Given the description of an element on the screen output the (x, y) to click on. 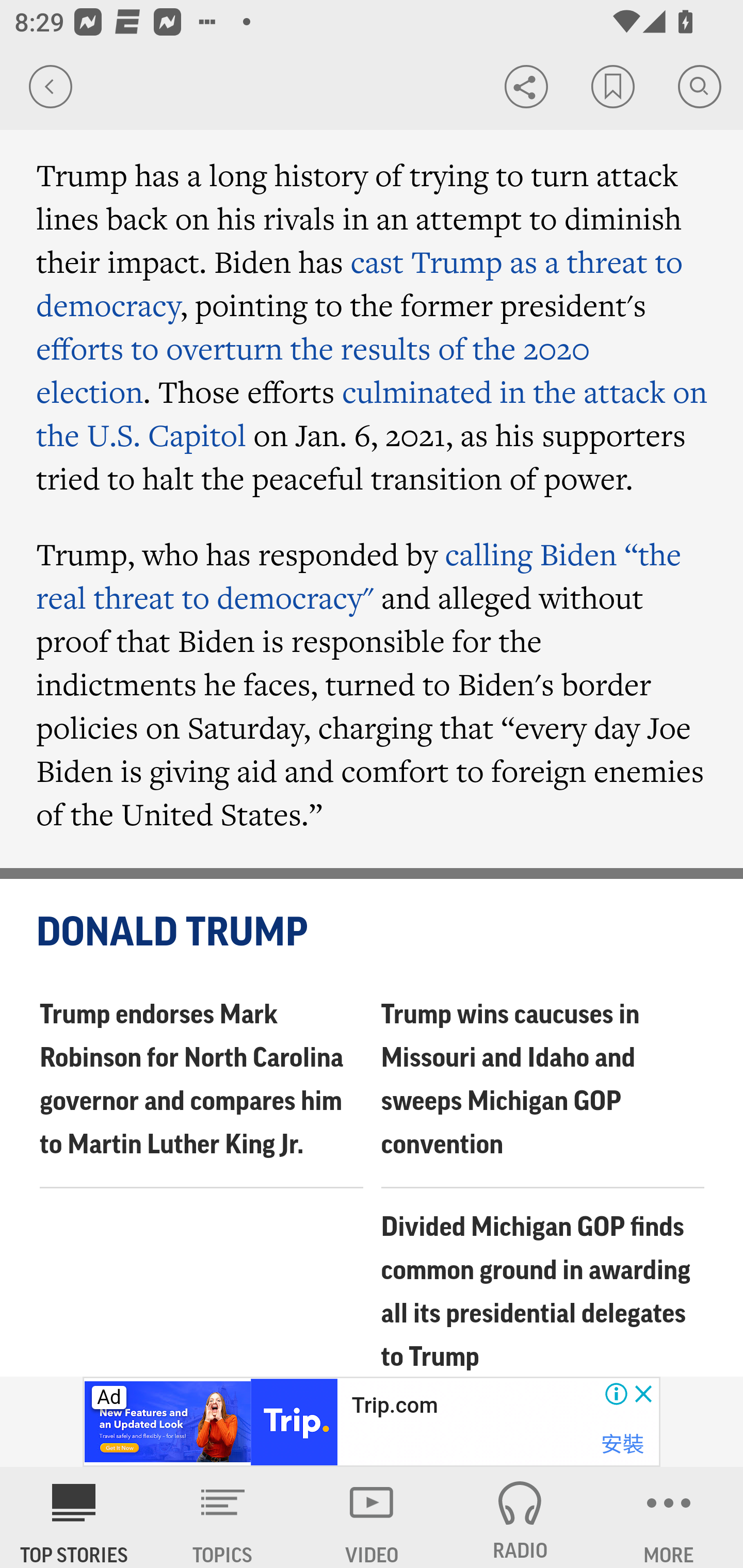
cast Trump as a threat to democracy (360, 282)
culminated in the attack on the U.S. Capitol (372, 413)
calling Biden “the real threat to democracy" (359, 575)
DONALD TRUMP (372, 932)
Trip.com (393, 1405)
安裝 (621, 1444)
AP News TOP STORIES (74, 1517)
TOPICS (222, 1517)
VIDEO (371, 1517)
RADIO (519, 1517)
MORE (668, 1517)
